Given the description of an element on the screen output the (x, y) to click on. 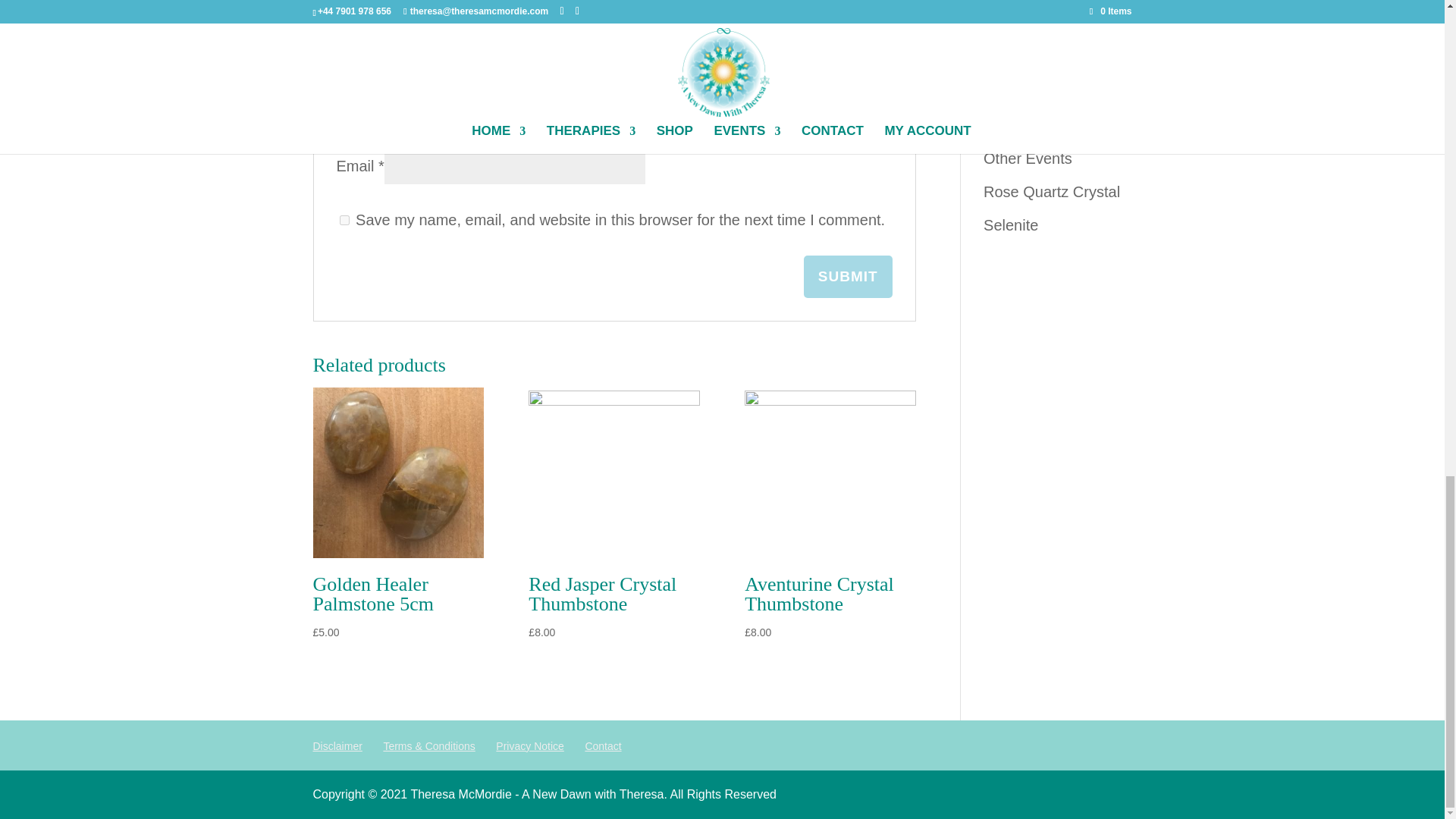
Submit (847, 276)
Submit (847, 276)
yes (344, 220)
